Given the description of an element on the screen output the (x, y) to click on. 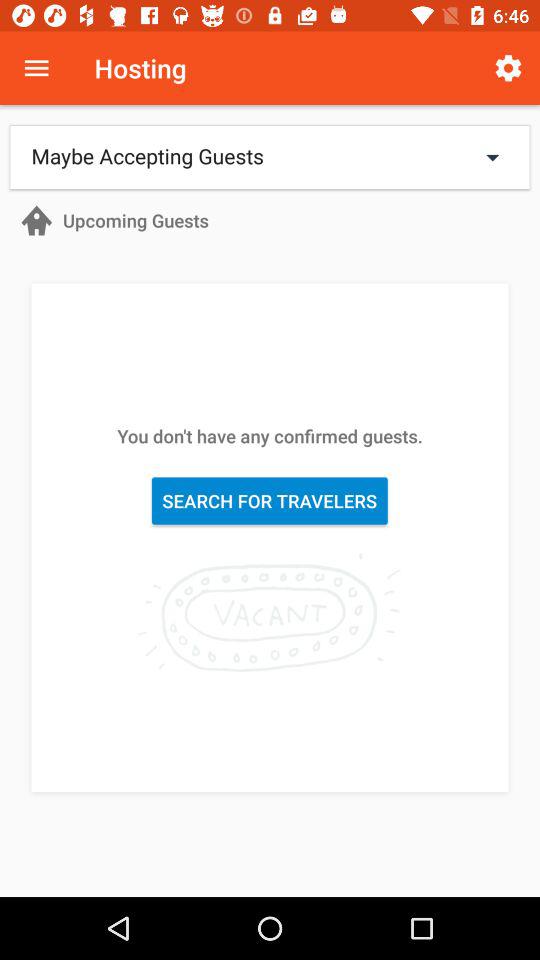
see options (36, 68)
